Given the description of an element on the screen output the (x, y) to click on. 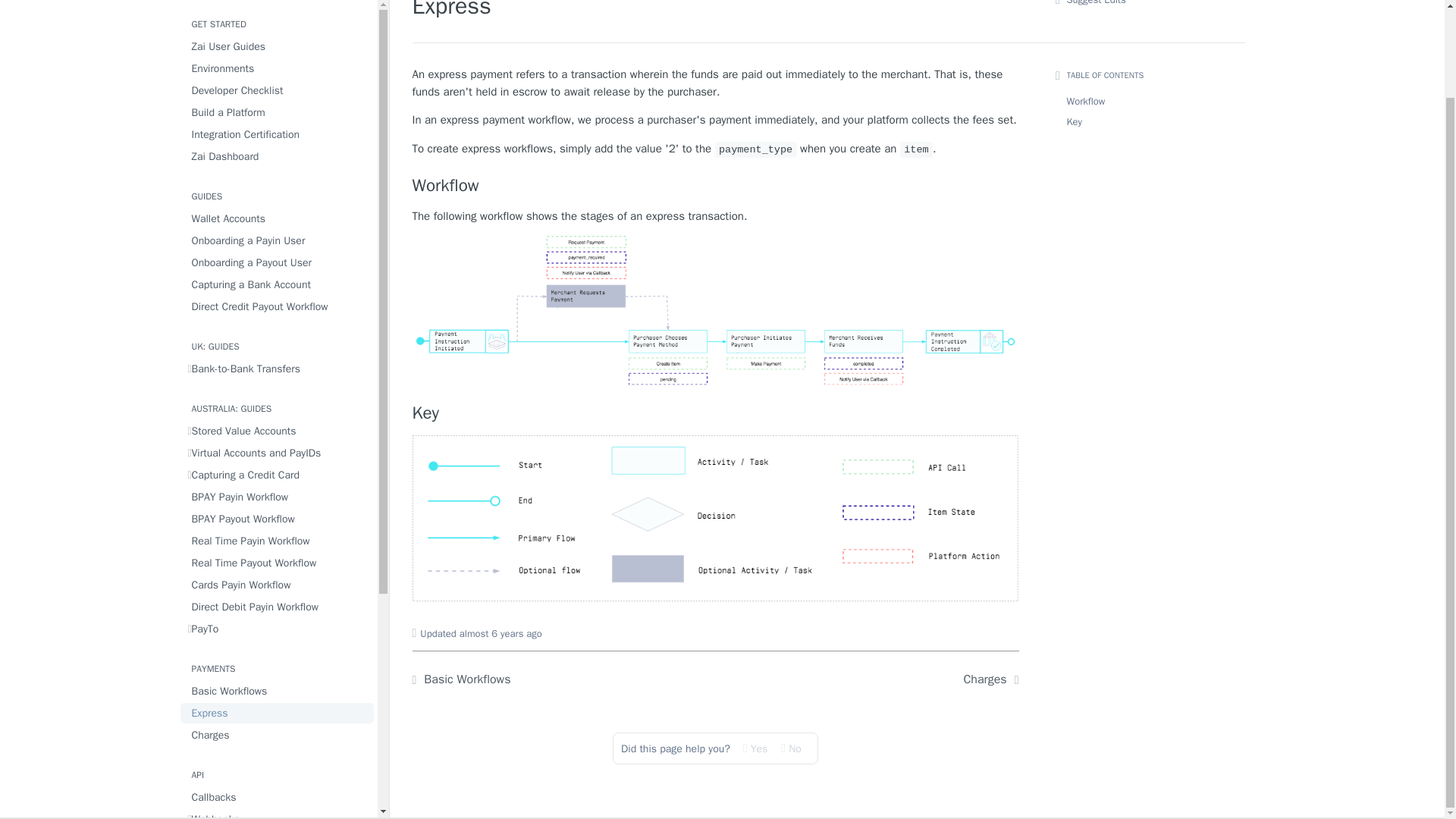
Build a Platform (277, 83)
Developer Checklist (277, 61)
Onboarding a Payin User (277, 211)
Virtual Accounts and PayIDs (277, 424)
Workflow (715, 185)
Bank-to-Bank Transfers (277, 340)
Zai User Guides (277, 17)
Integration Certification (277, 105)
Wallet Accounts (277, 189)
Zai Dashboard (277, 127)
